Given the description of an element on the screen output the (x, y) to click on. 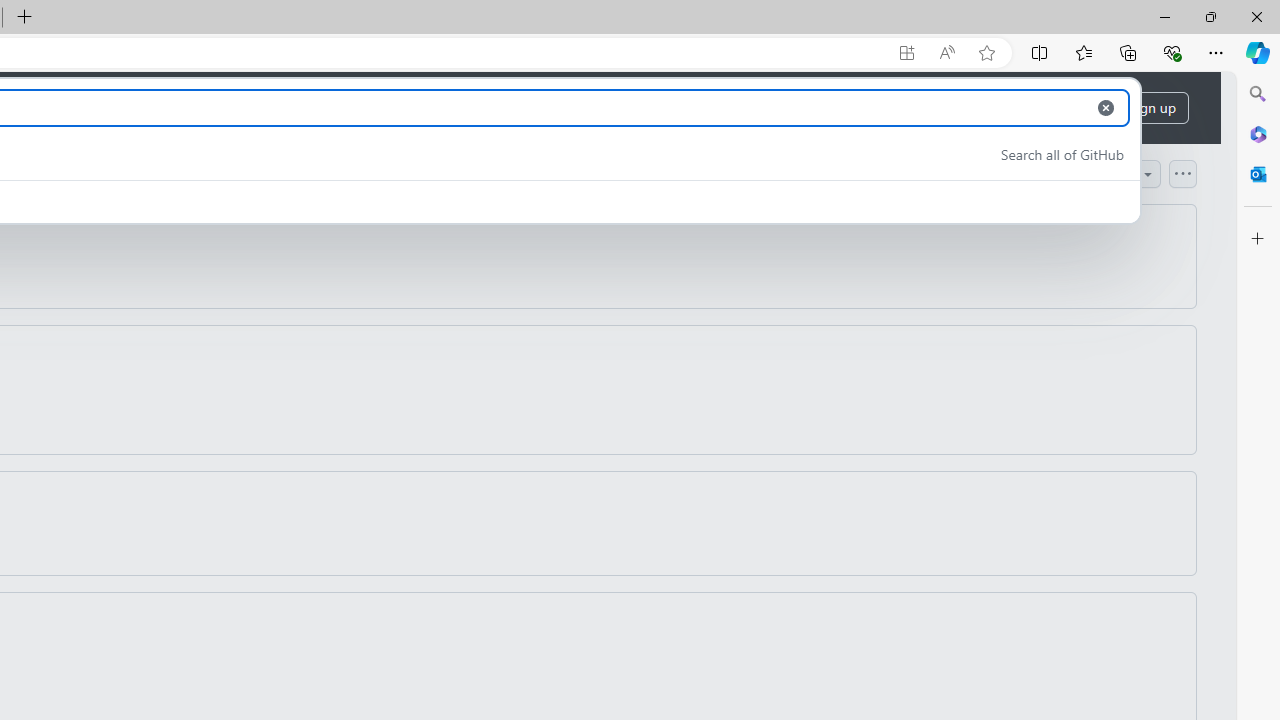
Sort by: Best match (1090, 173)
Sign up (1152, 107)
Open column options (1182, 173)
